Given the description of an element on the screen output the (x, y) to click on. 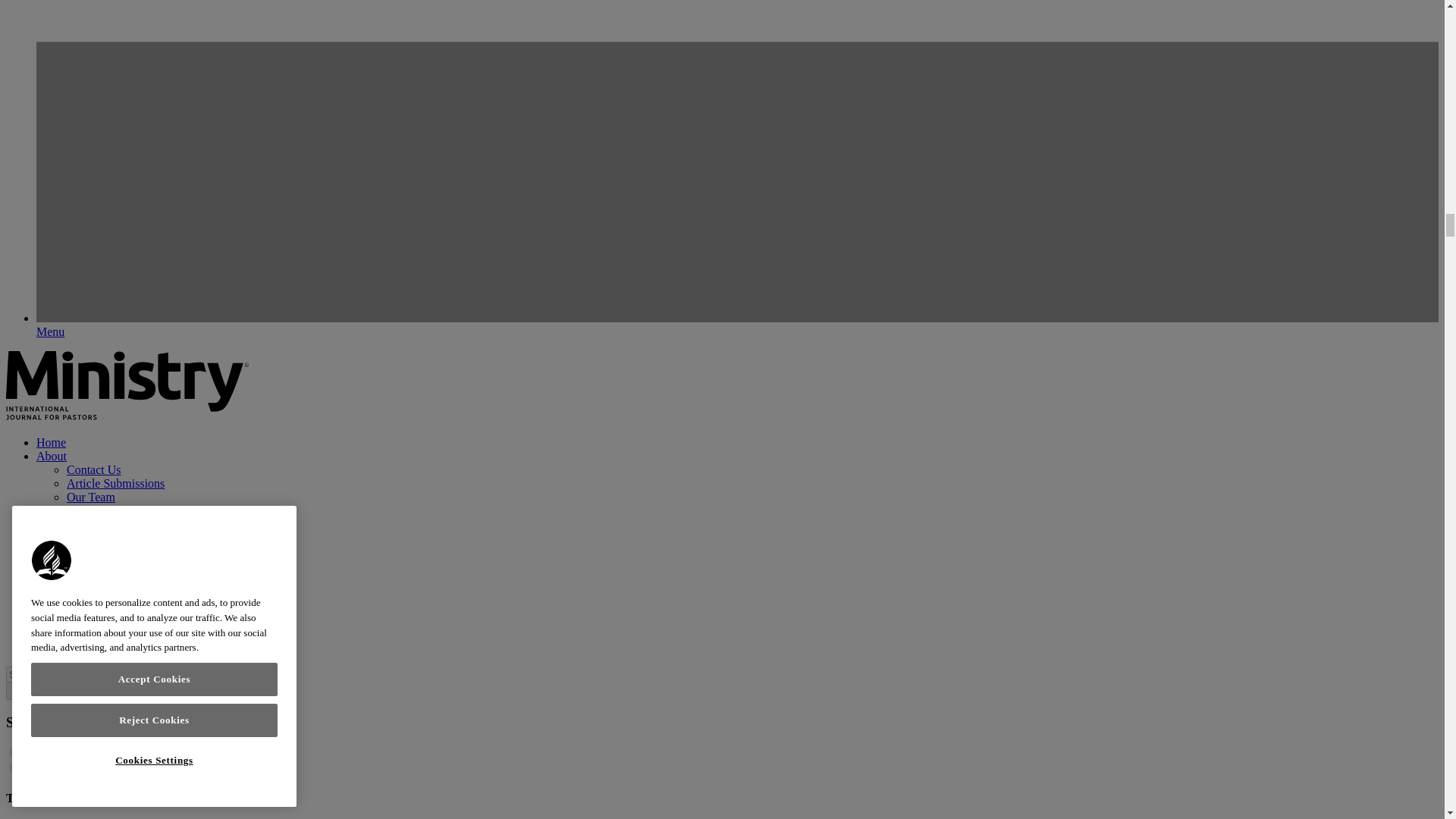
About (51, 455)
YouTube (88, 619)
Ministry in Motion (113, 633)
Pattern Lab Tools Filter Results (47, 691)
Article Submissions (115, 482)
Home (50, 441)
Pattern Lab Tools (17, 689)
Change Address (105, 564)
Cancel Subscription (115, 578)
Contact Us (93, 469)
Subscribe Now (103, 537)
Subscriptions (68, 523)
Podcast (85, 605)
Add Digital Delivery (118, 551)
Media (51, 592)
